Given the description of an element on the screen output the (x, y) to click on. 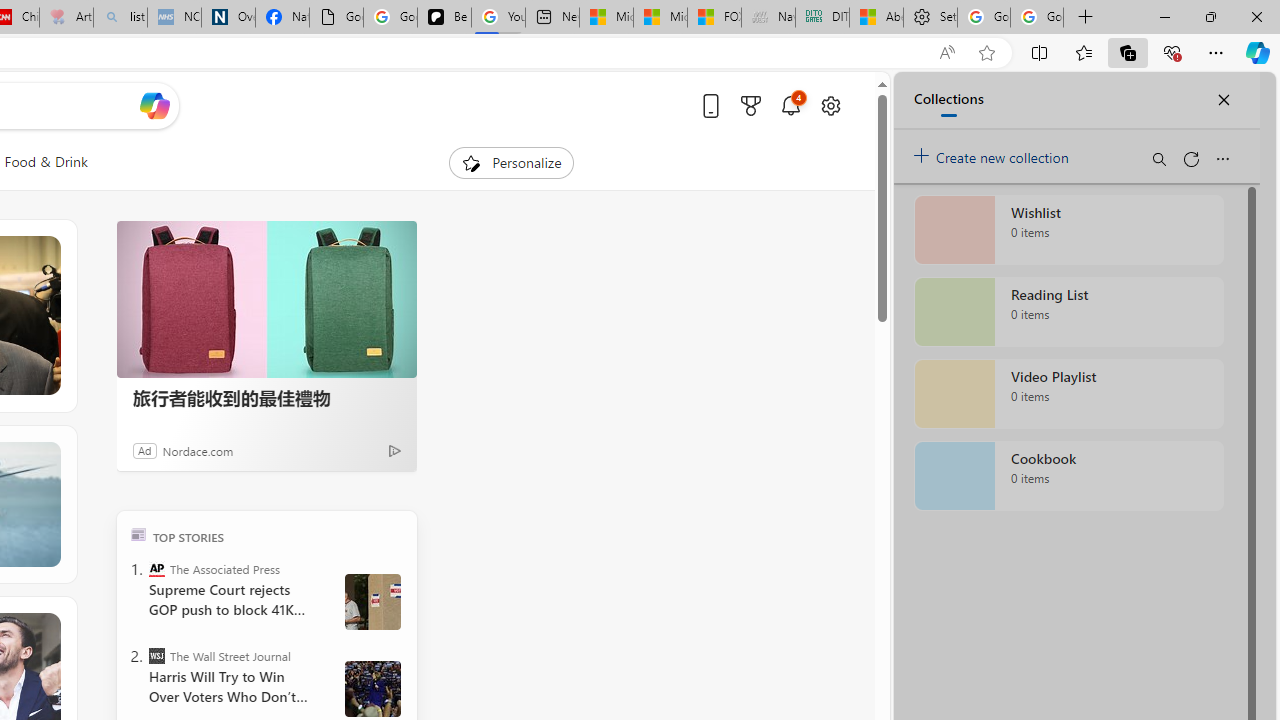
Notifications (790, 105)
Open settings (830, 105)
Food & Drink (45, 162)
To get missing image descriptions, open the context menu. (471, 162)
